Given the description of an element on the screen output the (x, y) to click on. 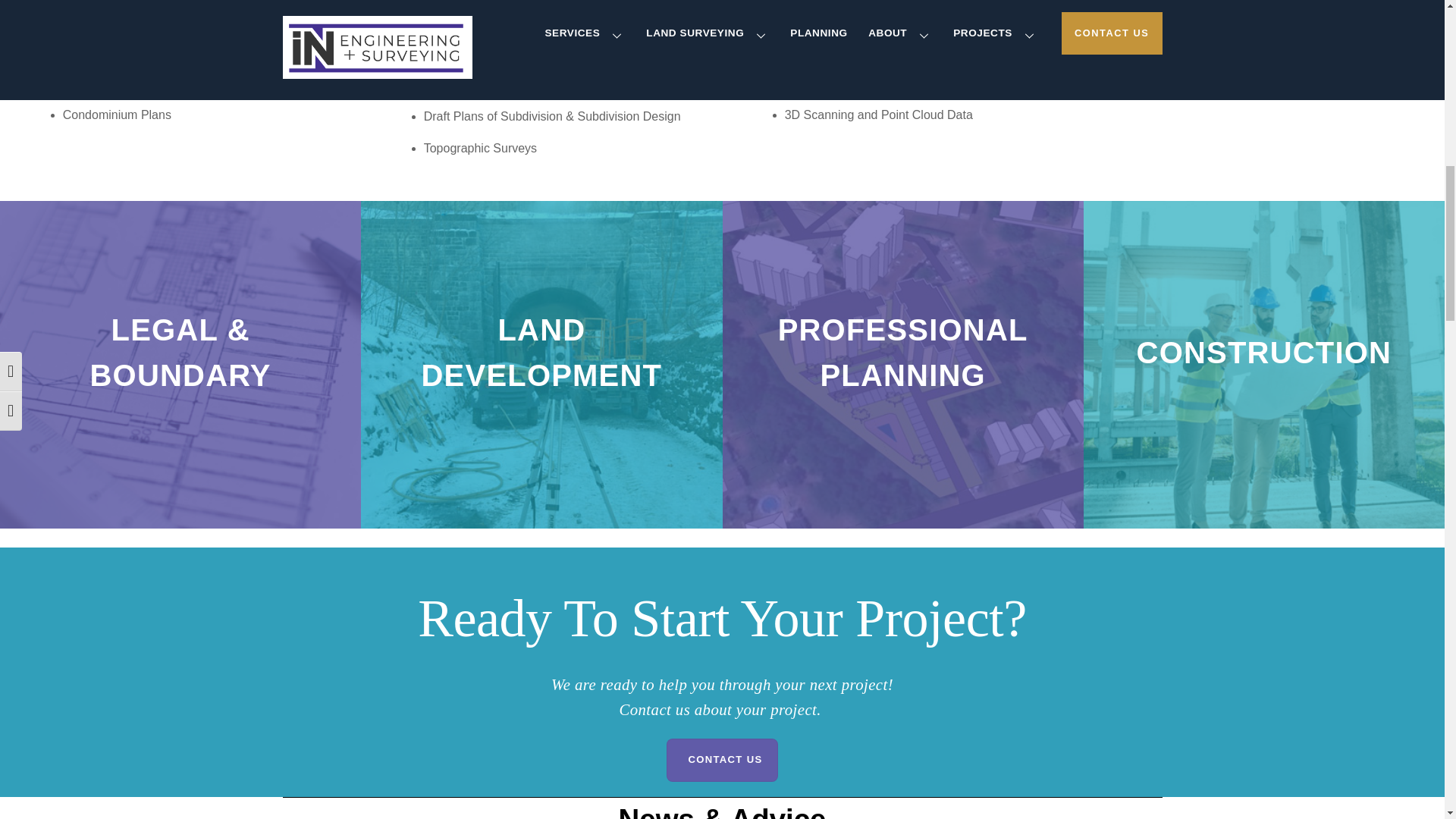
Plans of Subdivision (116, 83)
Land Development (474, 52)
Construction Layout Services (1224, 83)
